Given the description of an element on the screen output the (x, y) to click on. 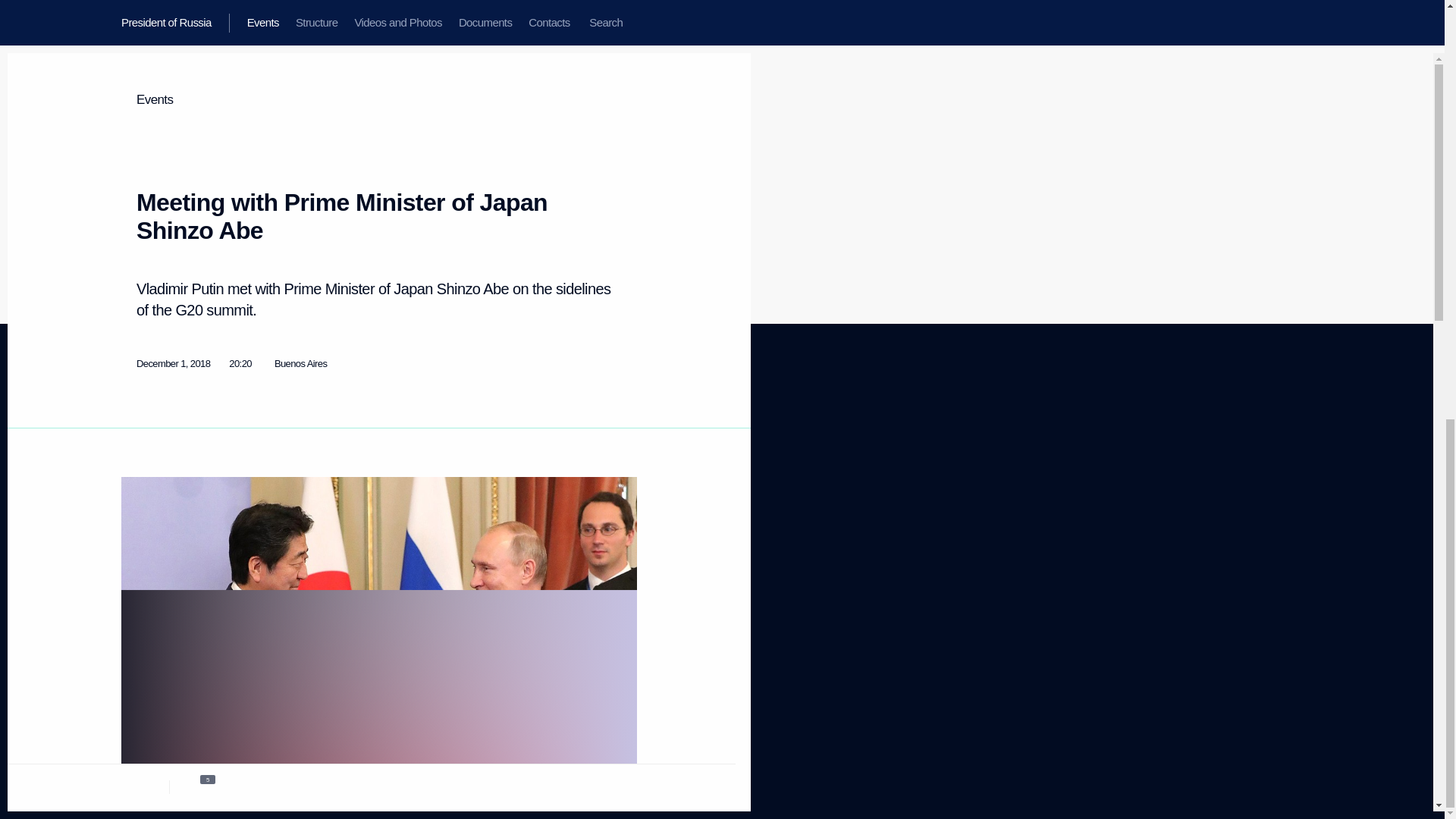
Directory (138, 625)
Version for People with Disabilities (165, 668)
Subscribe (140, 606)
Contacts (138, 516)
Videos and Photos (158, 478)
Events (134, 440)
Using website content (574, 460)
Personal data of website users (317, 447)
Telegram Channel (579, 485)
